Given the description of an element on the screen output the (x, y) to click on. 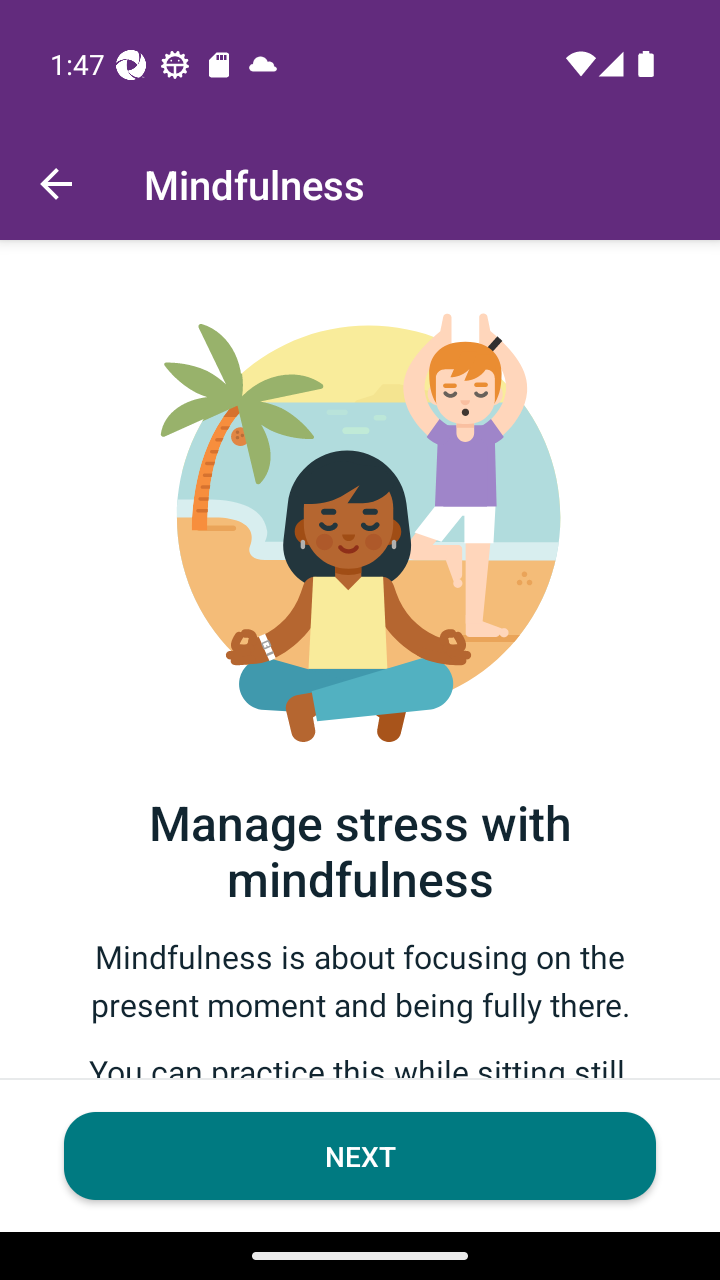
Navigate up (56, 184)
NEXT (359, 1156)
